Given the description of an element on the screen output the (x, y) to click on. 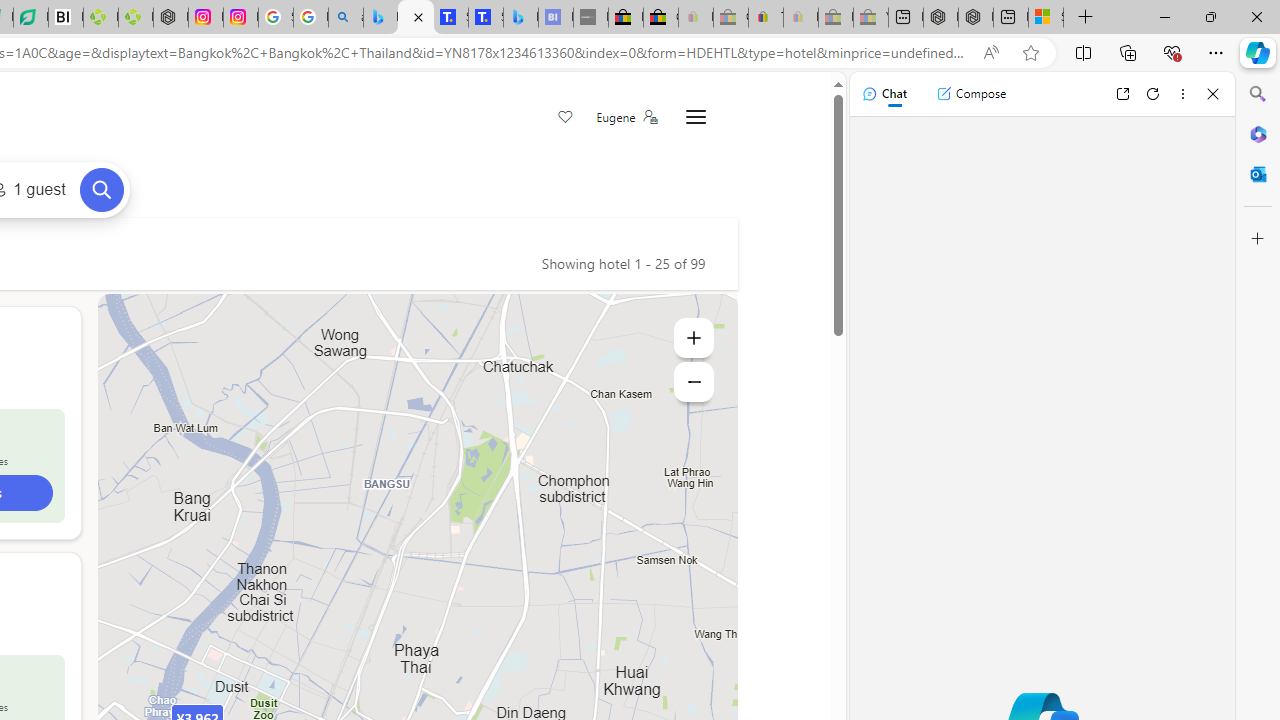
Chat (884, 93)
Microsoft Bing Travel - Stays in Bangkok, Bangkok, Thailand (415, 17)
Save (565, 118)
Save (565, 118)
Microsoft Bing Travel - Shangri-La Hotel Bangkok (520, 17)
